Given the description of an element on the screen output the (x, y) to click on. 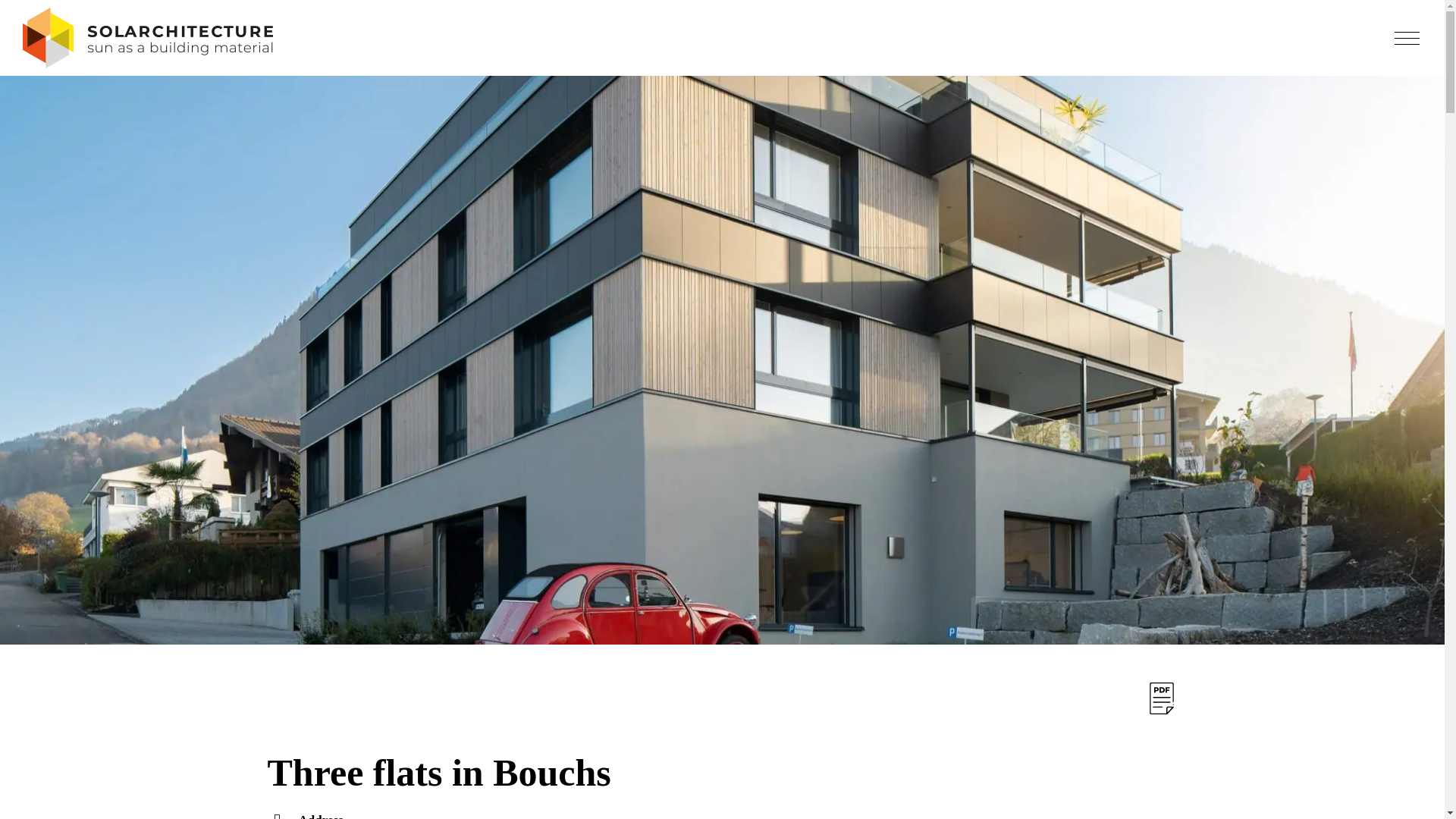
pdf-file (1160, 698)
